Given the description of an element on the screen output the (x, y) to click on. 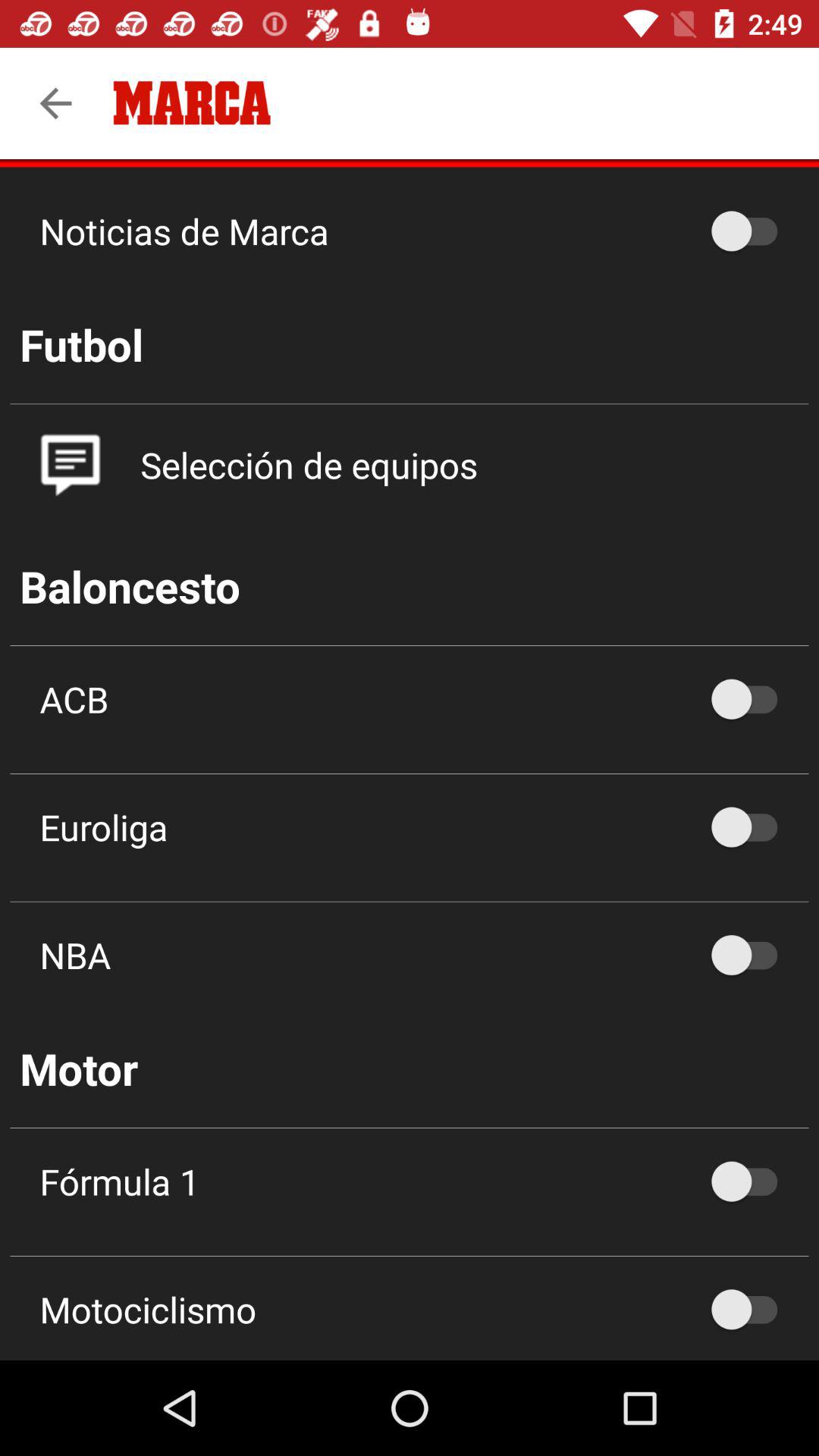
toggle euroliga (751, 827)
